Given the description of an element on the screen output the (x, y) to click on. 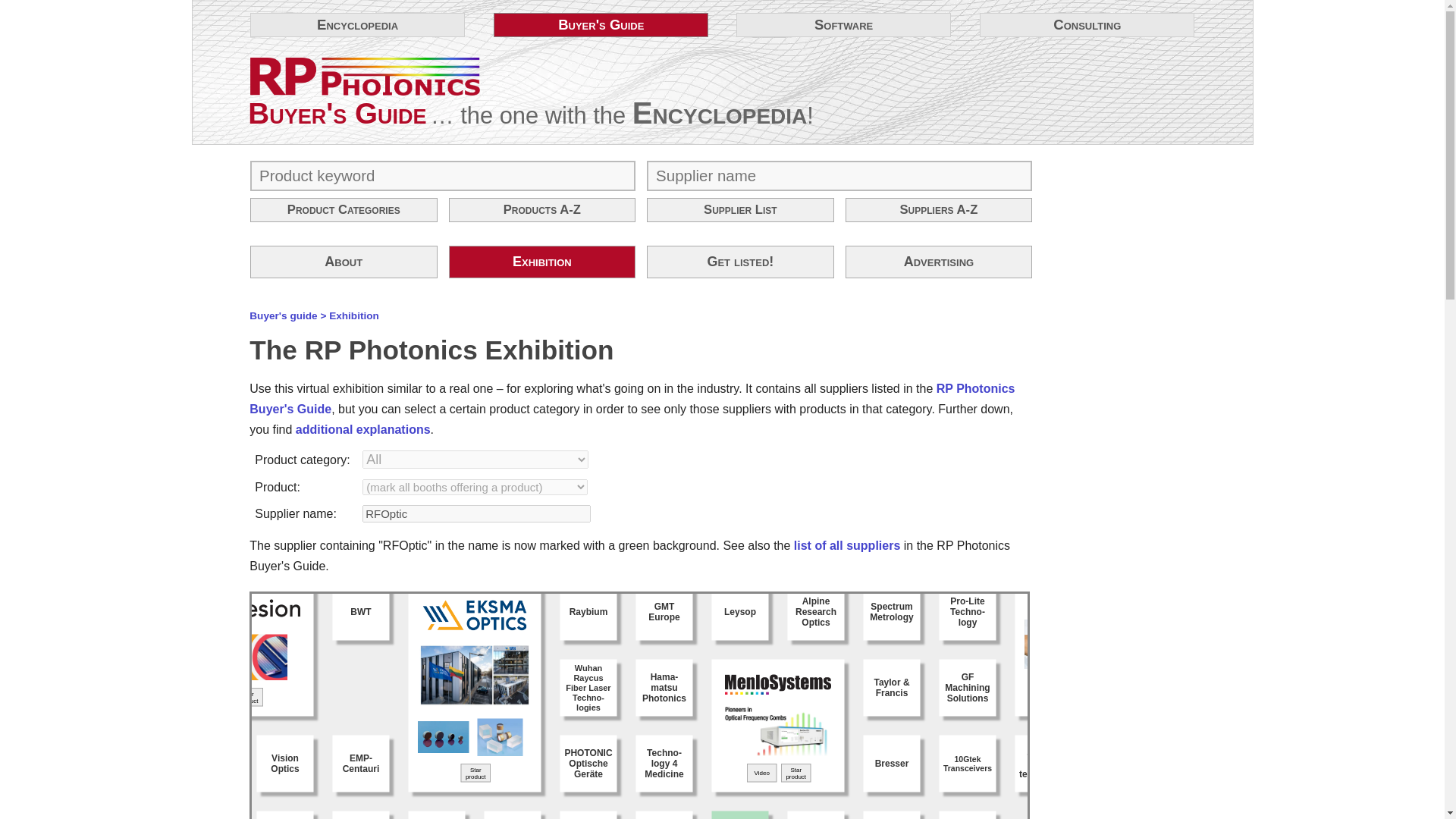
Advertising (938, 261)
Exhibition (541, 261)
Software (842, 24)
Supplier List (739, 209)
click to learn on RP Photonics (365, 76)
10Gtek Transceivers (995, 777)
Learn about this photonics buyer's guide. (344, 261)
Product Categories (343, 209)
Product arranged by categories (344, 209)
Buyer's guide (282, 315)
Suppliers A-Z (938, 209)
Exhibition (353, 315)
additional explanations (362, 429)
